Given the description of an element on the screen output the (x, y) to click on. 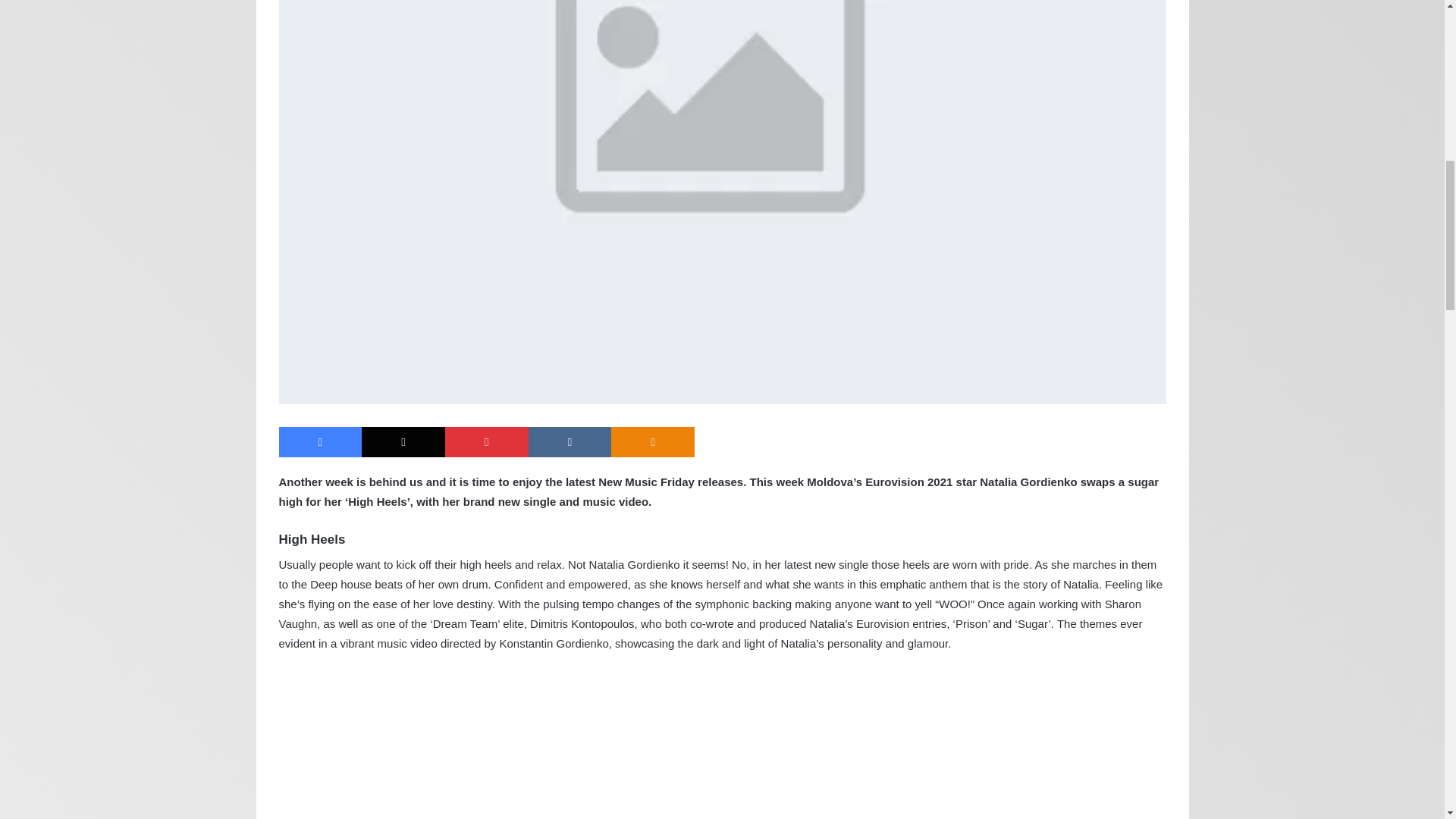
Pinterest (486, 441)
Facebook (320, 441)
Odnoklassniki (652, 441)
VKontakte (569, 441)
X (403, 441)
Facebook (320, 441)
